Given the description of an element on the screen output the (x, y) to click on. 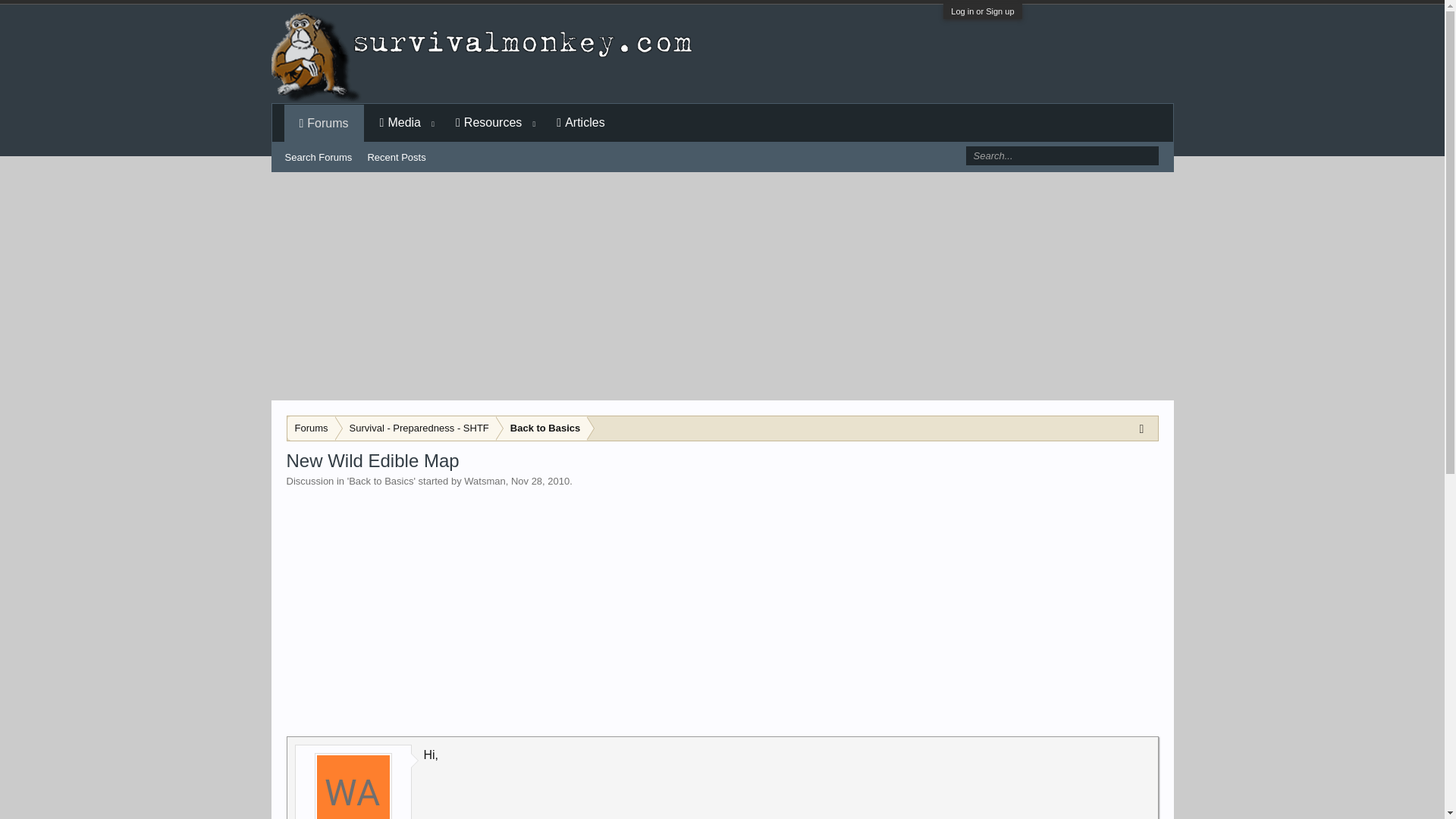
Back to Basics (381, 480)
Open quick navigation (1144, 427)
Search Forums (318, 157)
Forums (324, 123)
Enter your search and hit enter (1061, 155)
Resources (489, 122)
Forums (310, 428)
Nov 28, 2010 (540, 480)
Log in or Sign up (981, 10)
Back to Basics (542, 428)
Media (400, 122)
Nov 28, 2010 at 12:33 (540, 480)
Articles (580, 122)
Watsman (484, 480)
